Given the description of an element on the screen output the (x, y) to click on. 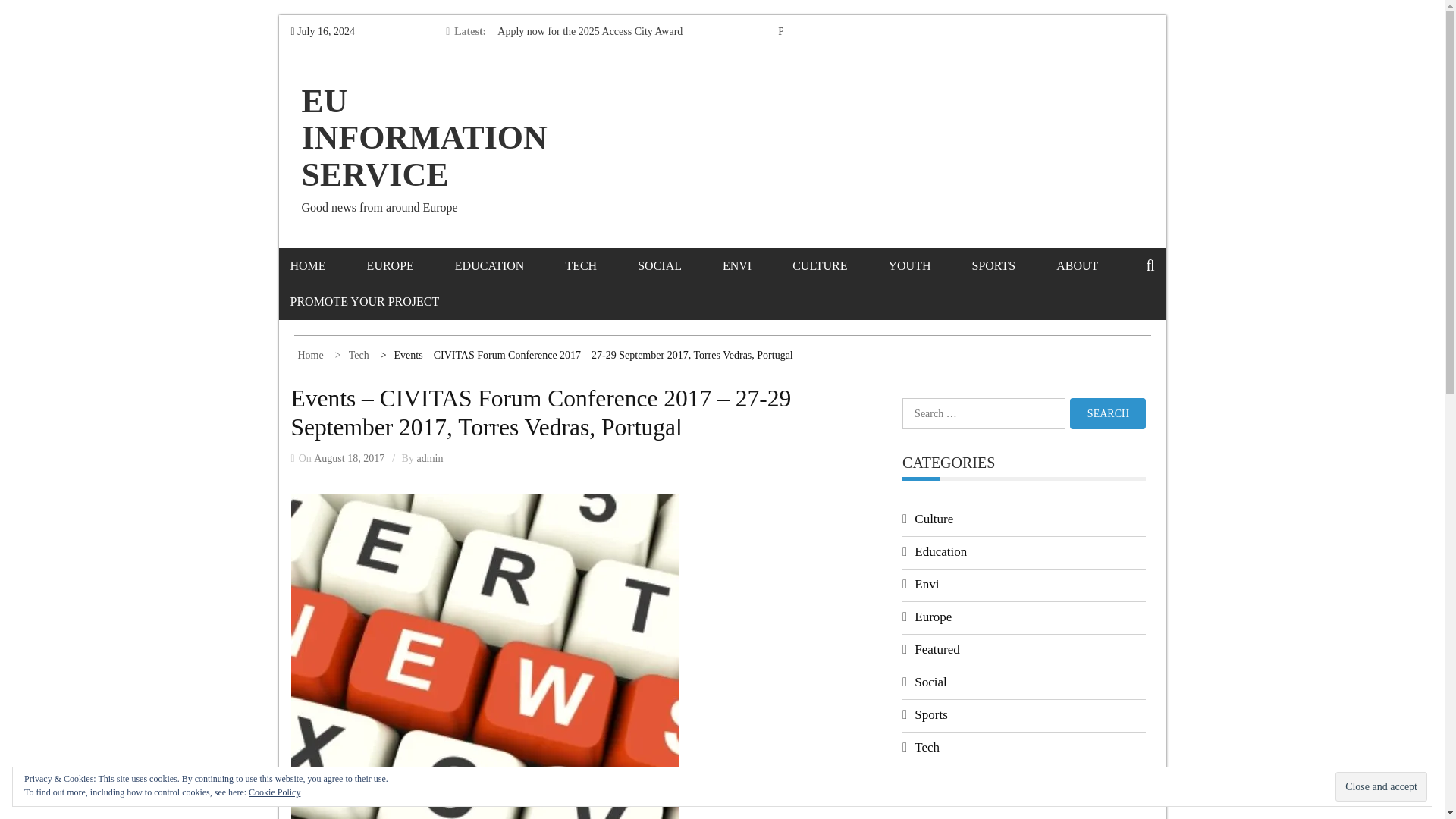
SPORTS (1011, 265)
EDUCATION (508, 265)
Close and accept (1380, 786)
Search (1107, 413)
August 18, 2017 (349, 458)
EU INFORMATION SERVICE (424, 137)
PROMOTE YOUR PROJECT (383, 301)
TECH (599, 265)
Home (311, 355)
SOCIAL (678, 265)
Apply now for the 2025 Access City Award (589, 30)
CULTURE (838, 265)
Tech (353, 355)
